Given the description of an element on the screen output the (x, y) to click on. 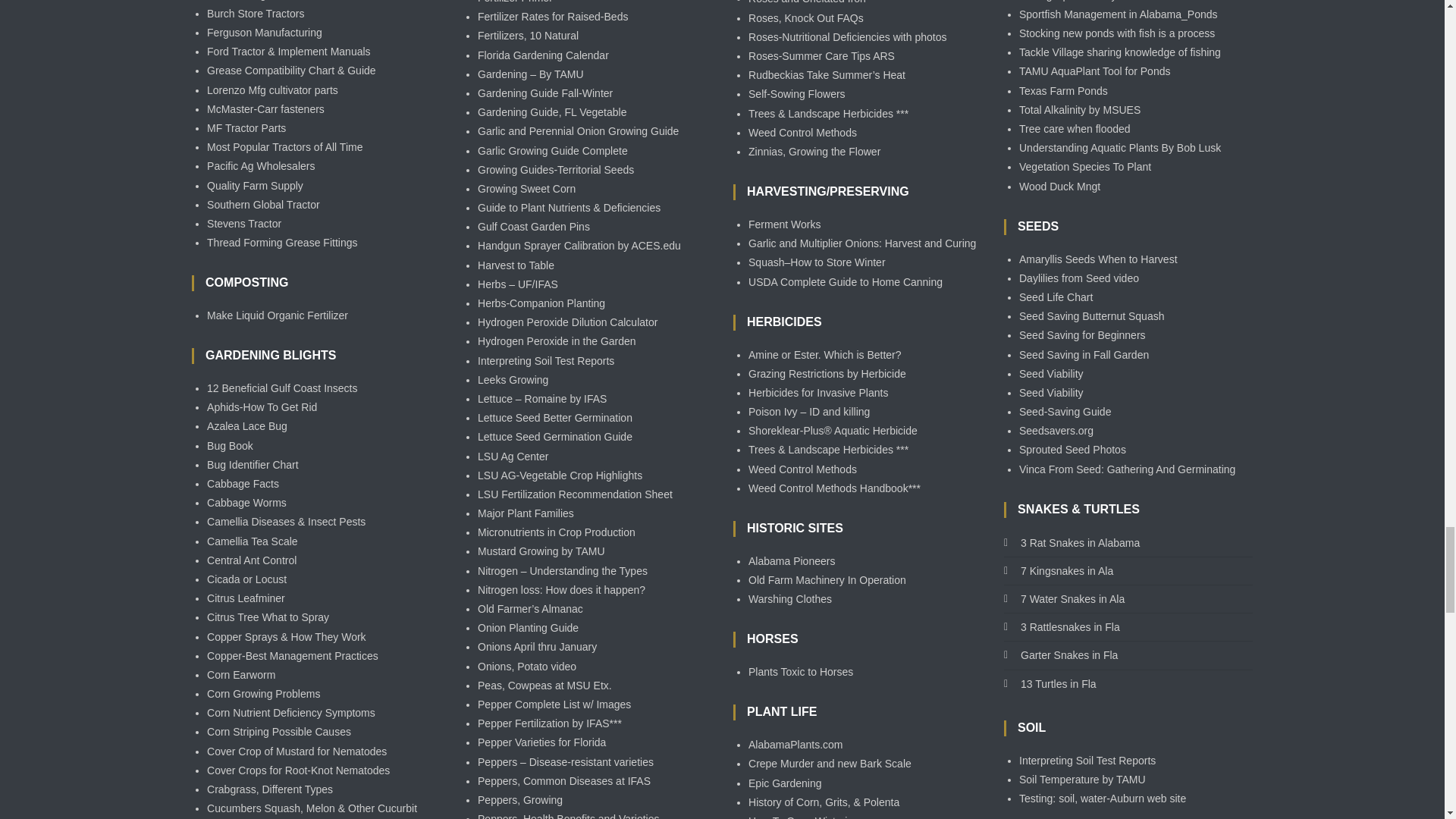
Implements for low horse-power tractors (263, 32)
Plant Machinery Lubrication data and advice (290, 70)
A wide range of parts and components for cultivator setups (271, 90)
